Given the description of an element on the screen output the (x, y) to click on. 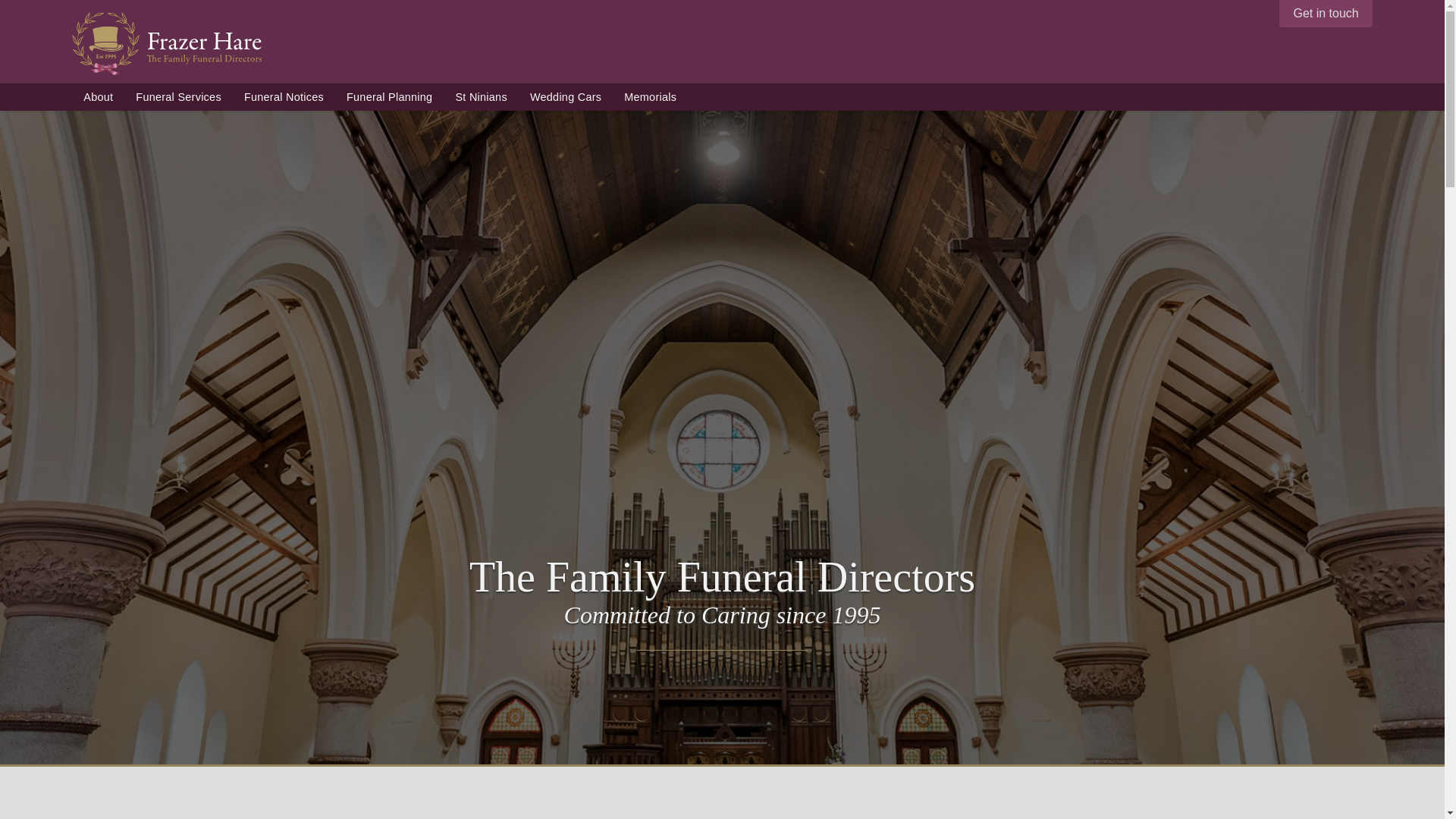
Wedding Cars (565, 96)
Funeral Notices (283, 96)
Memorials (649, 96)
About (97, 96)
Funeral Services (177, 96)
Funeral Planning (389, 96)
St Ninians (481, 96)
Get in touch (1325, 13)
